Given the description of an element on the screen output the (x, y) to click on. 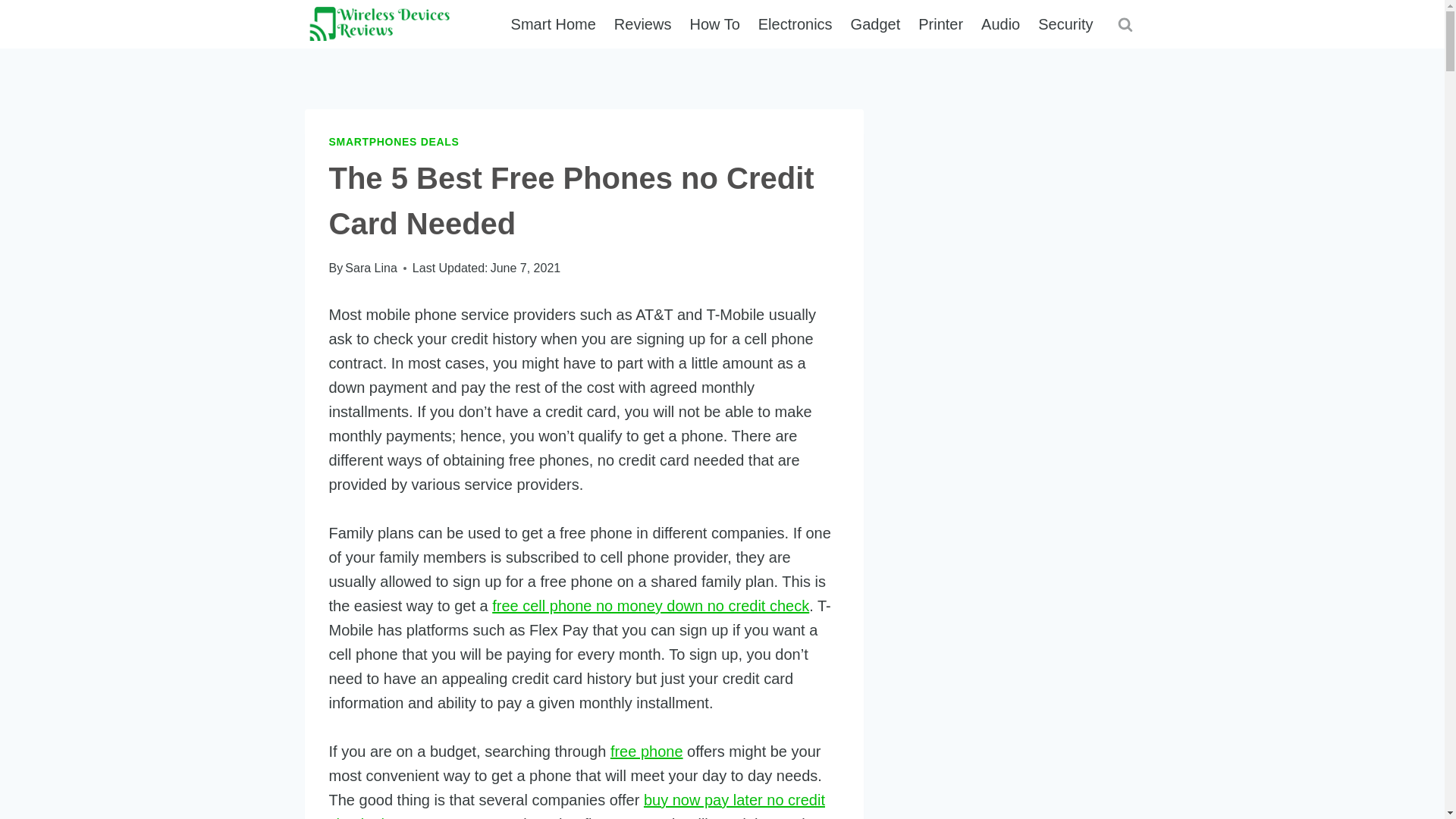
Security (1065, 24)
Reviews (643, 24)
free phone (646, 751)
Electronics (795, 24)
SMARTPHONES DEALS (394, 141)
buy now pay later no credit check phones (577, 805)
Audio (1000, 24)
Smart Home (553, 24)
free cell phone no money down no credit check (650, 605)
Gadget (875, 24)
